Given the description of an element on the screen output the (x, y) to click on. 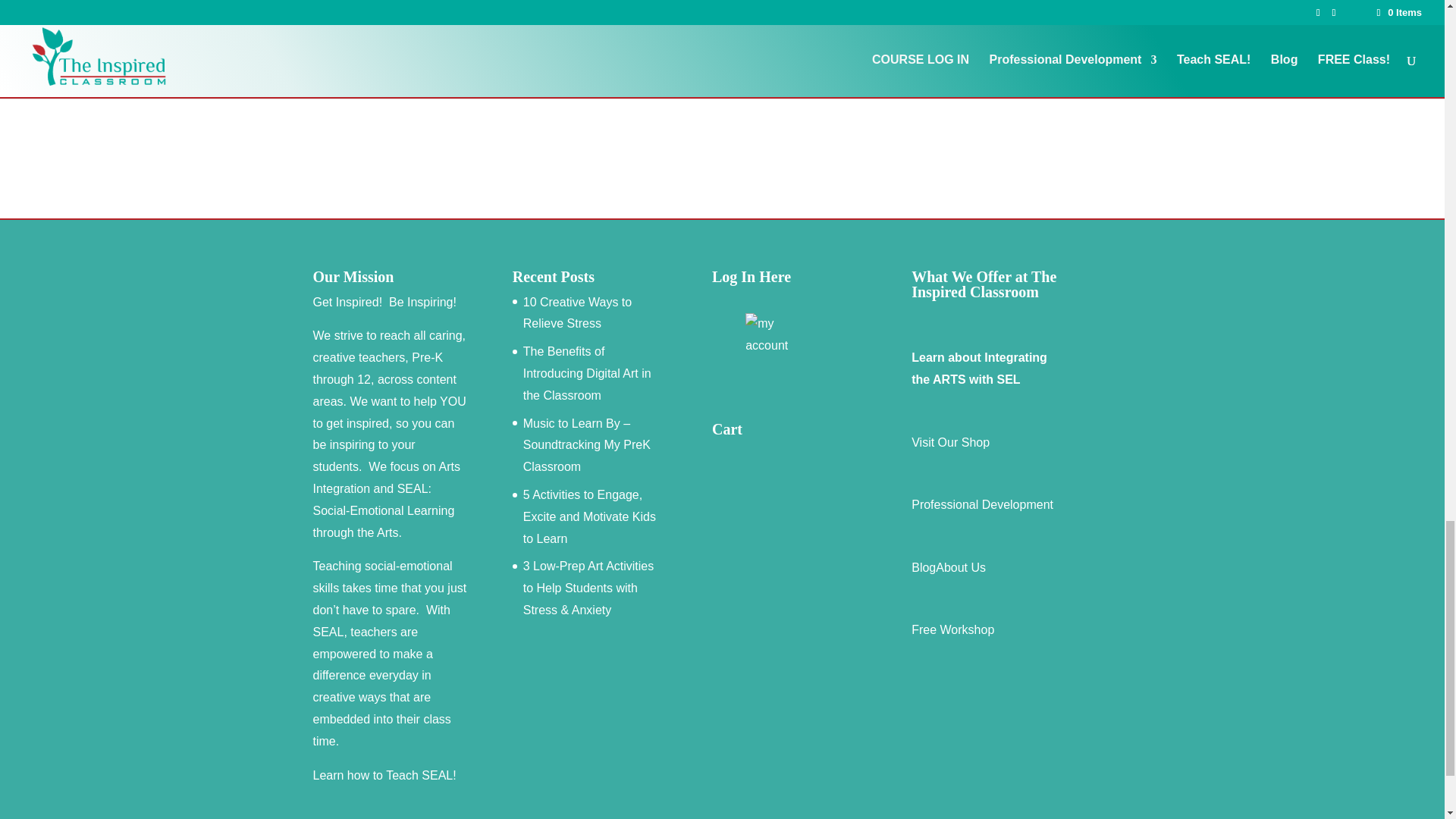
About Us (960, 567)
The Benefits of Introducing Digital Art in the Classroom (586, 373)
Learn about Integrating the ARTS with SEL (978, 368)
yes (319, 20)
Visit Our Shop (950, 441)
Free Workshop (952, 629)
Professional Development (981, 504)
5 Activities to Engage, Excite and Motivate Kids to Learn (589, 516)
10 Creative Ways to Relieve Stress (576, 312)
Submit Comment (1049, 65)
